Given the description of an element on the screen output the (x, y) to click on. 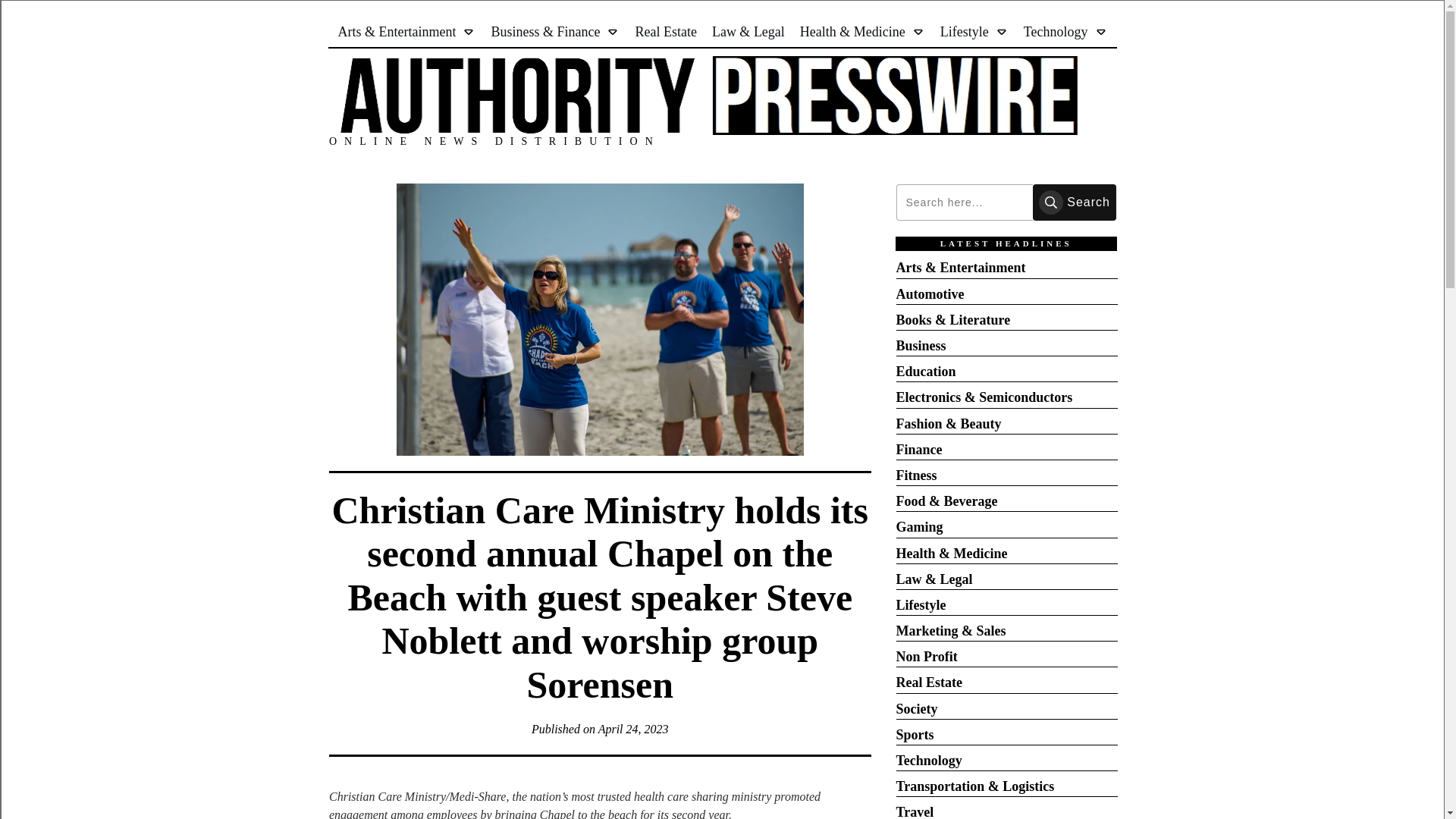
Search (1074, 202)
Automotive (929, 294)
Technology (1065, 31)
Real Estate (664, 31)
Lifestyle (974, 31)
